Given the description of an element on the screen output the (x, y) to click on. 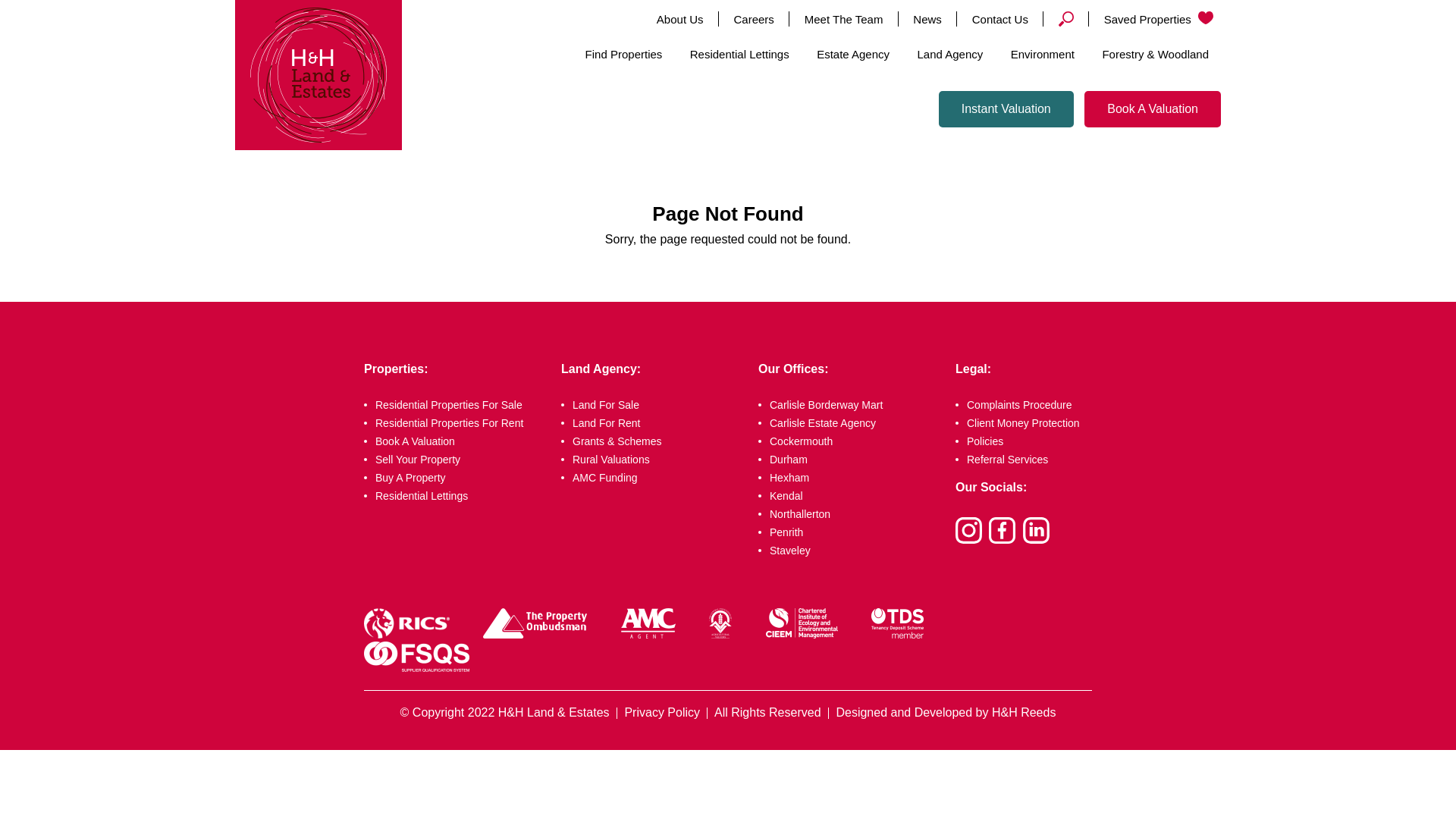
About Us (680, 18)
Residential Properties For Sale (455, 404)
Policies (1023, 440)
Cockermouth (849, 440)
Residential Lettings (455, 495)
Client Money Protection (1023, 422)
Estate Agency (853, 54)
Durham (849, 459)
Book A Valuation (455, 440)
Land For Sale (651, 404)
Buy A Property (455, 477)
Referral Services (1023, 459)
Carlisle Borderway Mart (849, 404)
Contact Us (999, 18)
Kendal (849, 495)
